Given the description of an element on the screen output the (x, y) to click on. 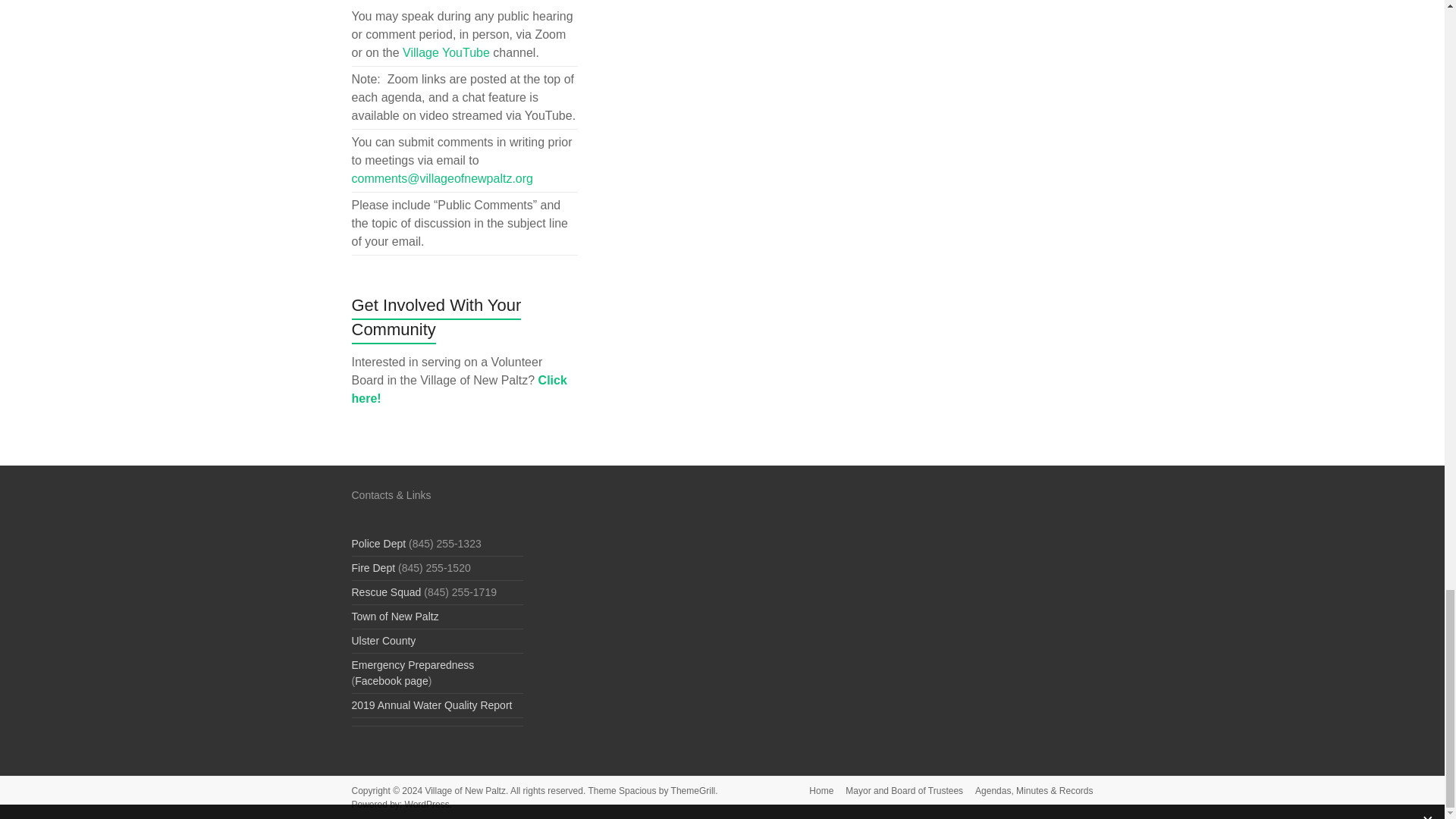
Village of New Paltz (465, 790)
WordPress (426, 804)
Spacious (637, 790)
